Given the description of an element on the screen output the (x, y) to click on. 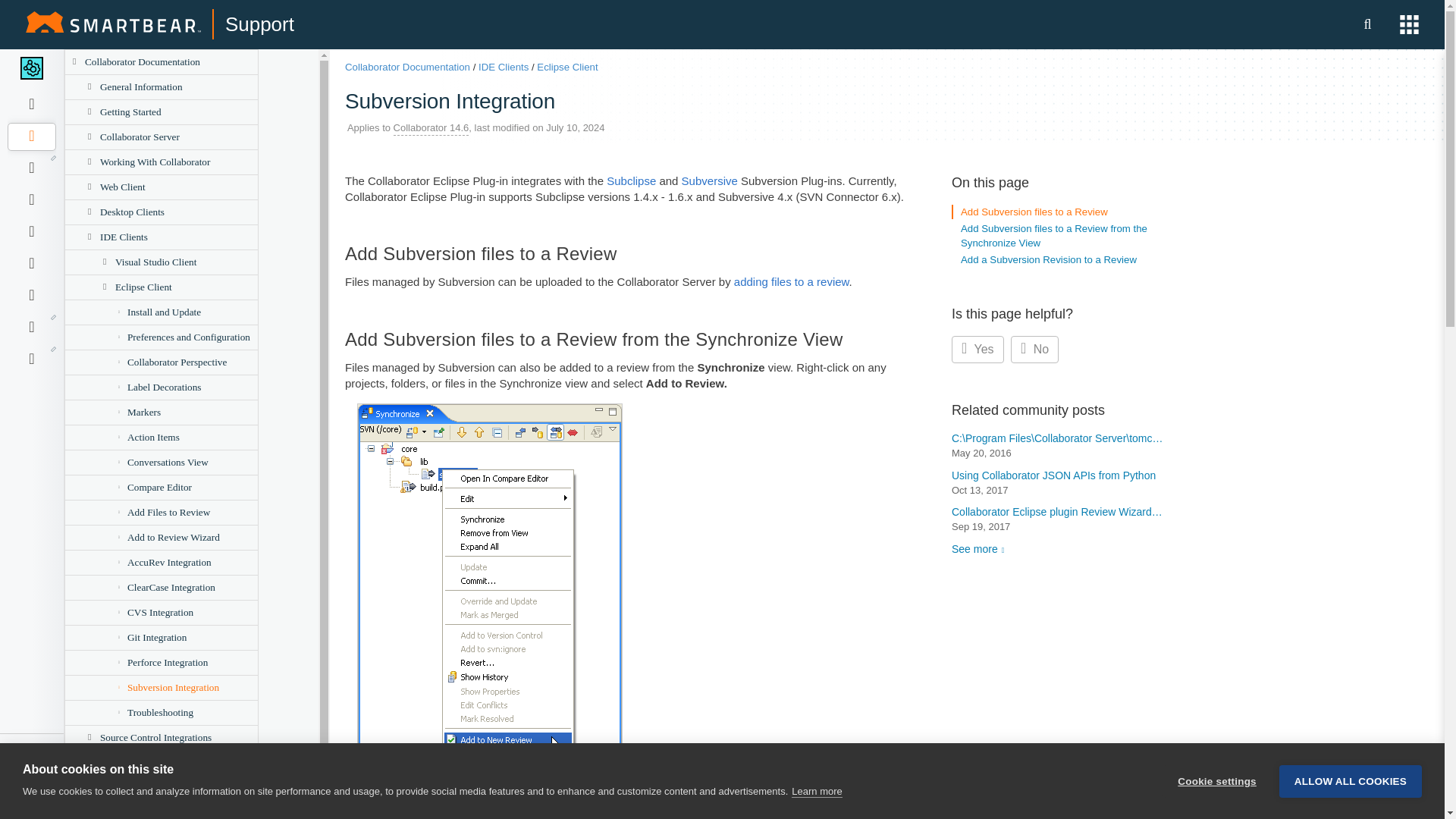
ALLOW ALL COOKIES (1350, 816)
